Given the description of an element on the screen output the (x, y) to click on. 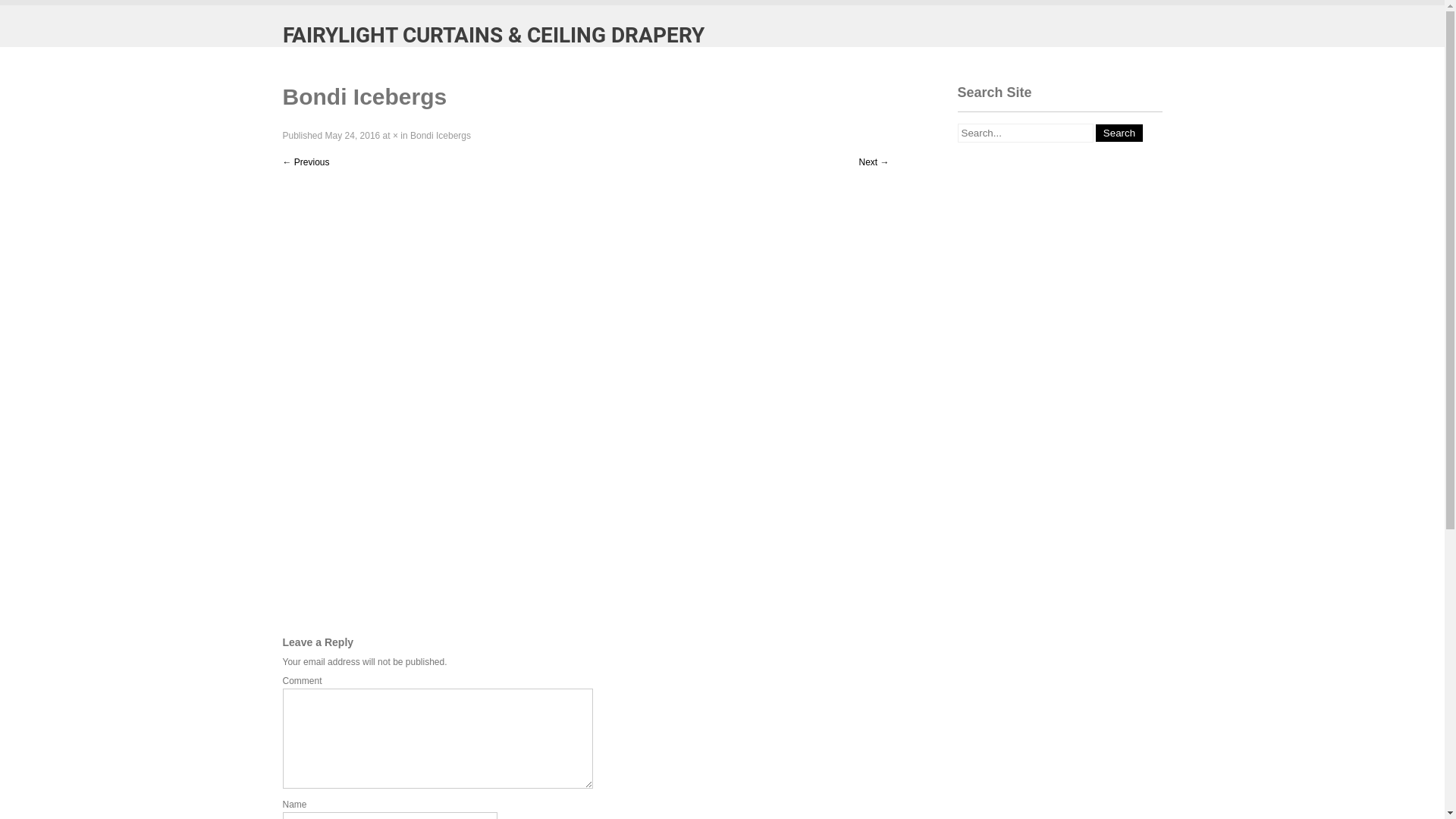
FAIRYLIGHT CURTAINS & CEILING DRAPERY Element type: text (492, 35)
Bondi Icebergs Element type: text (440, 135)
Search Element type: text (1118, 132)
